Given the description of an element on the screen output the (x, y) to click on. 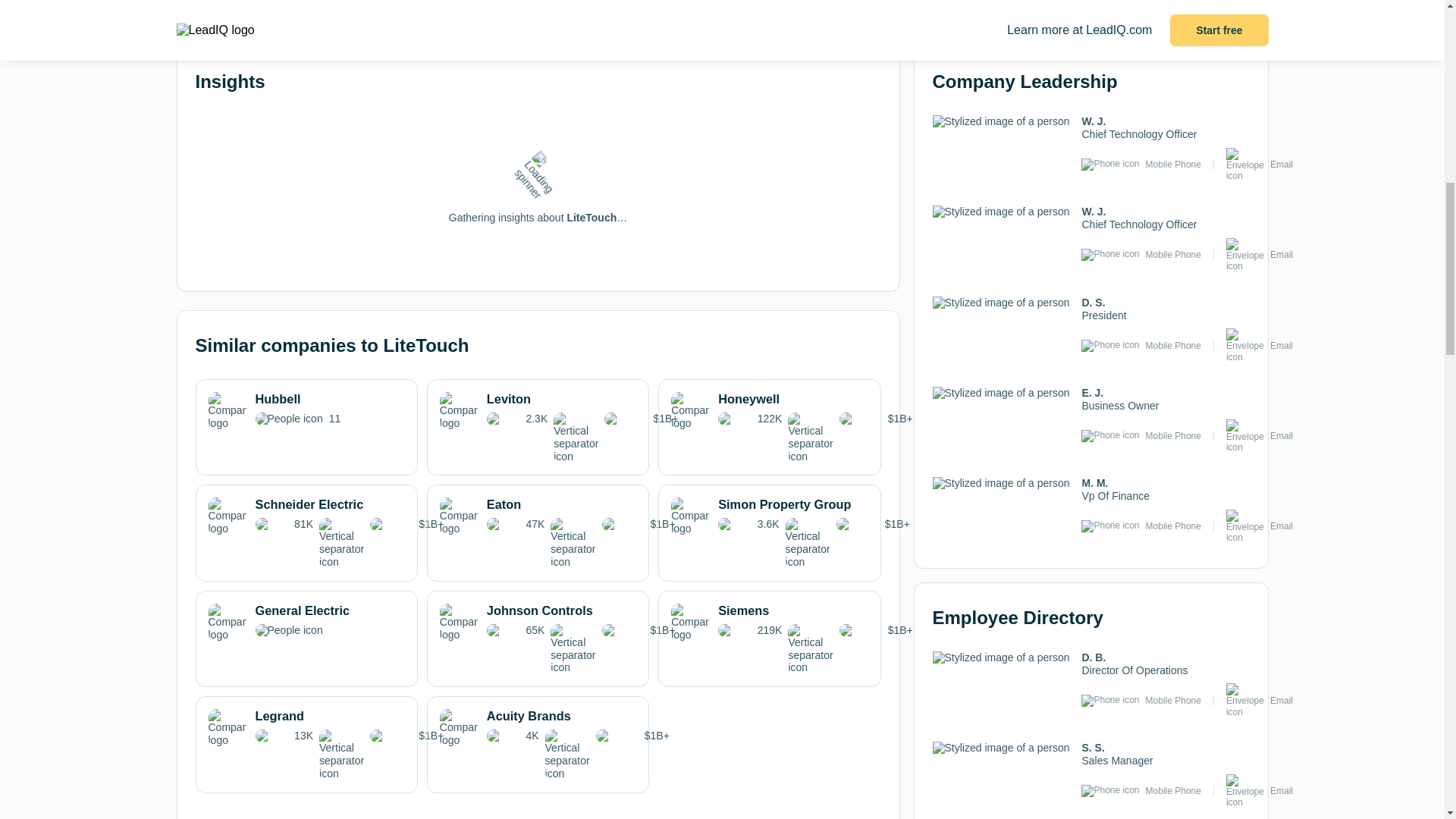
Insights (236, 7)
Similar companies (357, 13)
Email Format (718, 13)
Mobile Phone (1173, 163)
General Electric (306, 622)
Tech Stack (476, 6)
FAQ (838, 6)
Email (1280, 163)
